Given the description of an element on the screen output the (x, y) to click on. 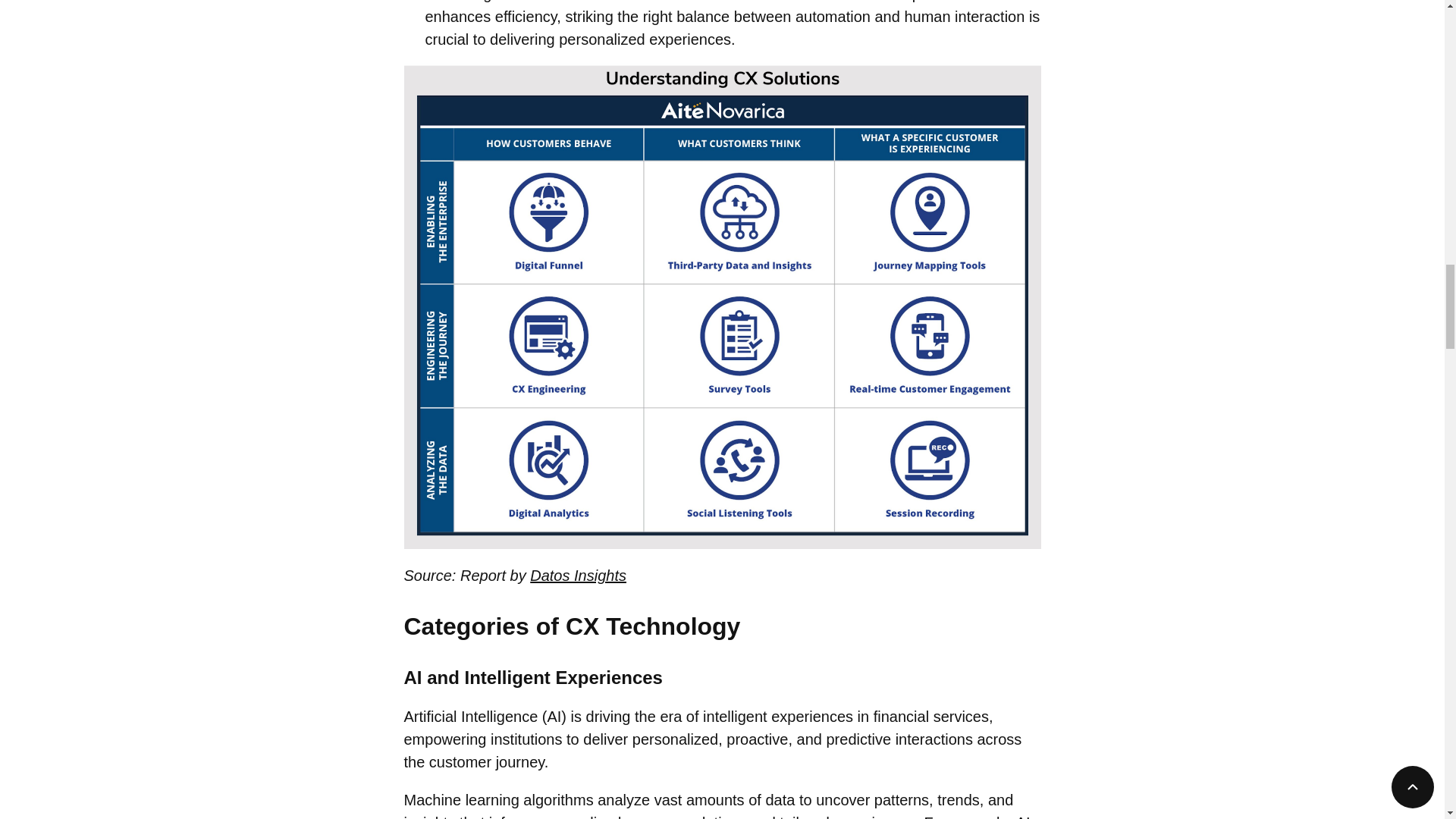
Datos Insights (577, 575)
